Given the description of an element on the screen output the (x, y) to click on. 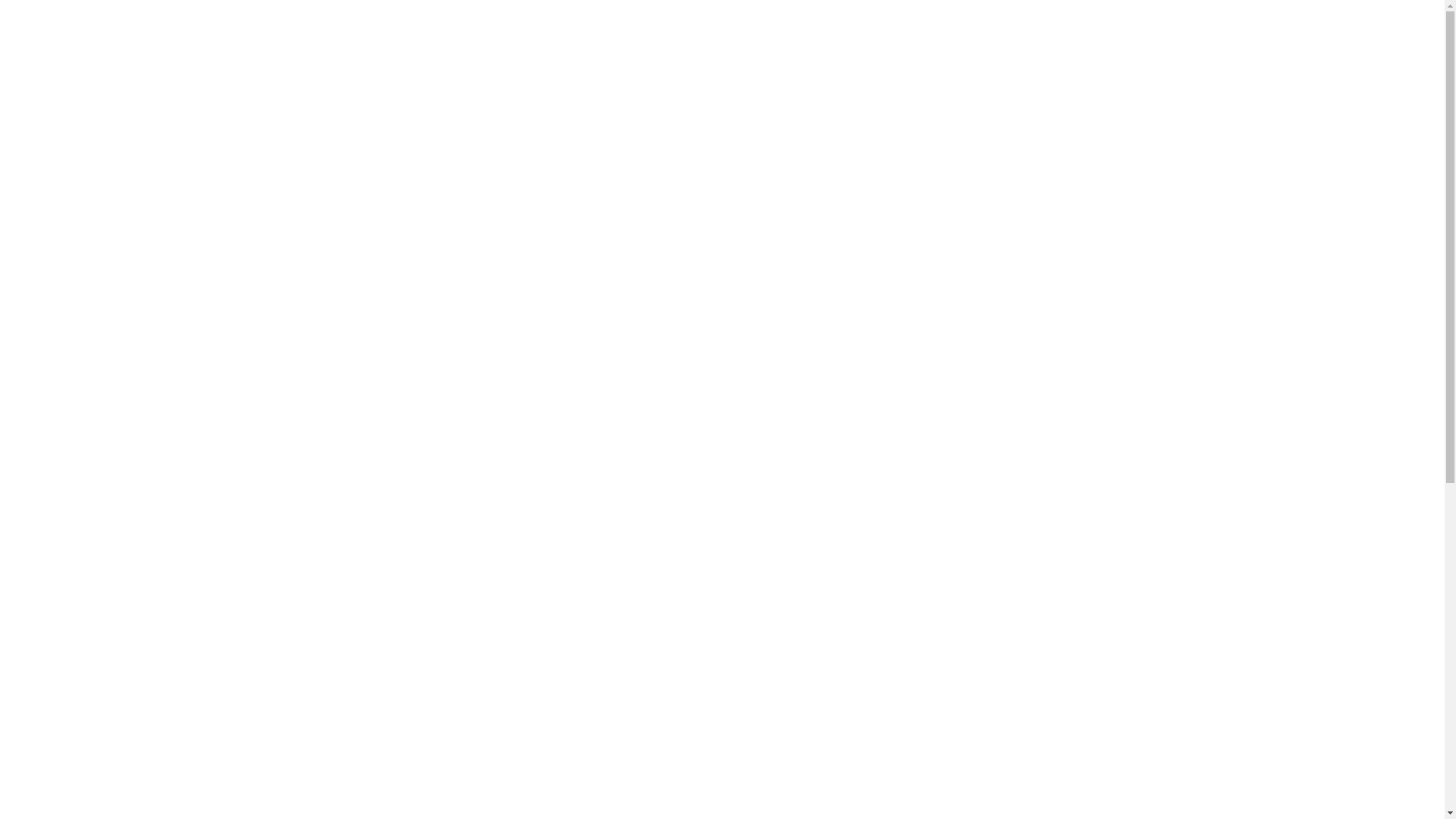
LOGAN Element type: text (1009, 577)
blog.renault.by Element type: text (410, 25)
KAPTUR Element type: text (1009, 699)
DUSTER Element type: text (1009, 668)
KOLEOS Element type: text (1009, 759)
ARKANA Element type: text (1009, 729)
MASTER Element type: text (1009, 790)
LOGAN Stepway Element type: text (1009, 638)
SANDERO Stepway Element type: text (1009, 608)
